Given the description of an element on the screen output the (x, y) to click on. 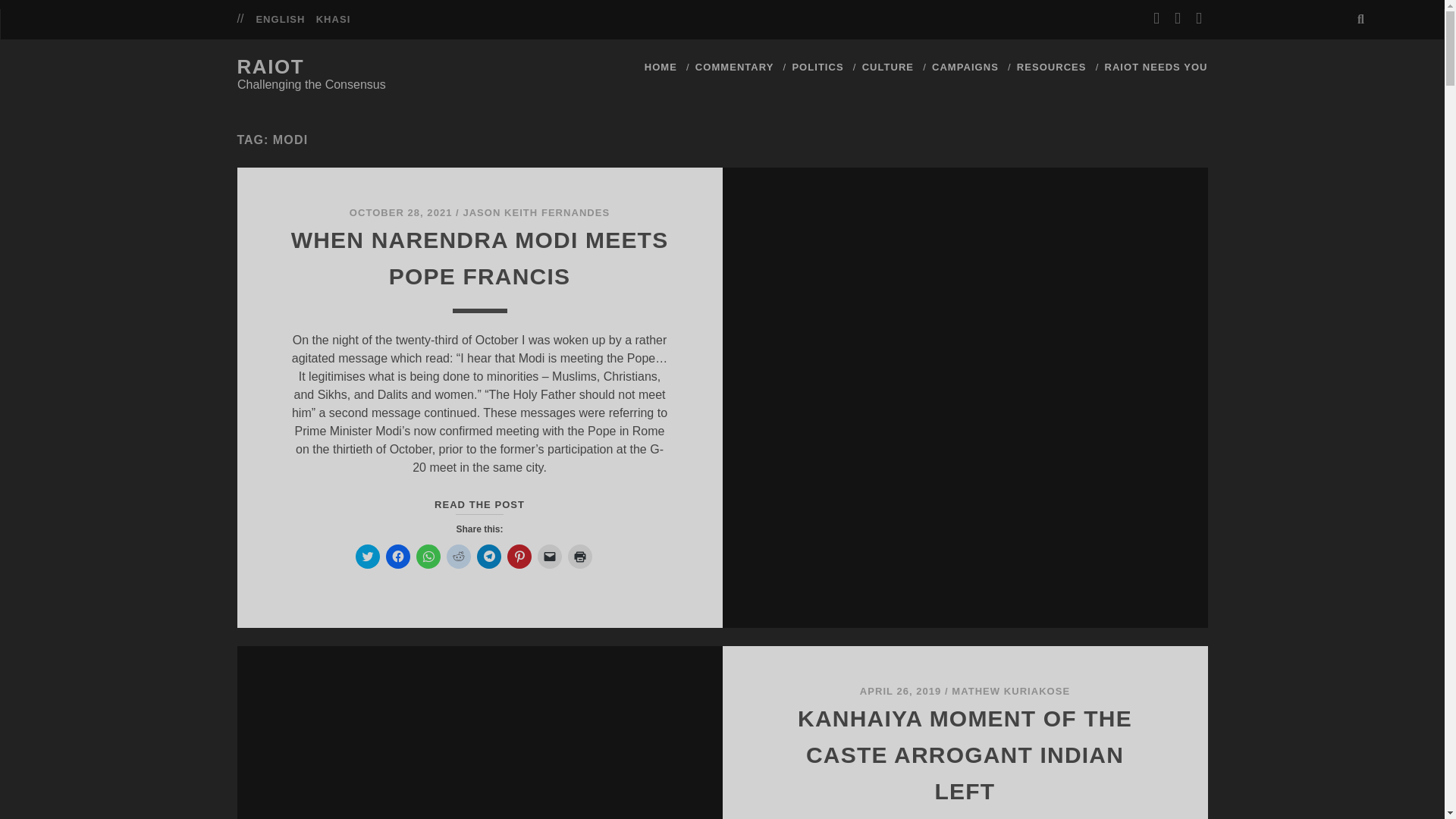
Click to share on Reddit (457, 556)
Click to share on Twitter (366, 556)
RAIOT NEEDS YOU (1155, 67)
Click to share on Pinterest (518, 556)
Click to share on WhatsApp (426, 556)
KANHAIYA MOMENT OF THE CASTE ARROGANT INDIAN LEFT (964, 754)
Click to share on Telegram (478, 504)
CULTURE (488, 556)
ENGLISH (887, 67)
